Given the description of an element on the screen output the (x, y) to click on. 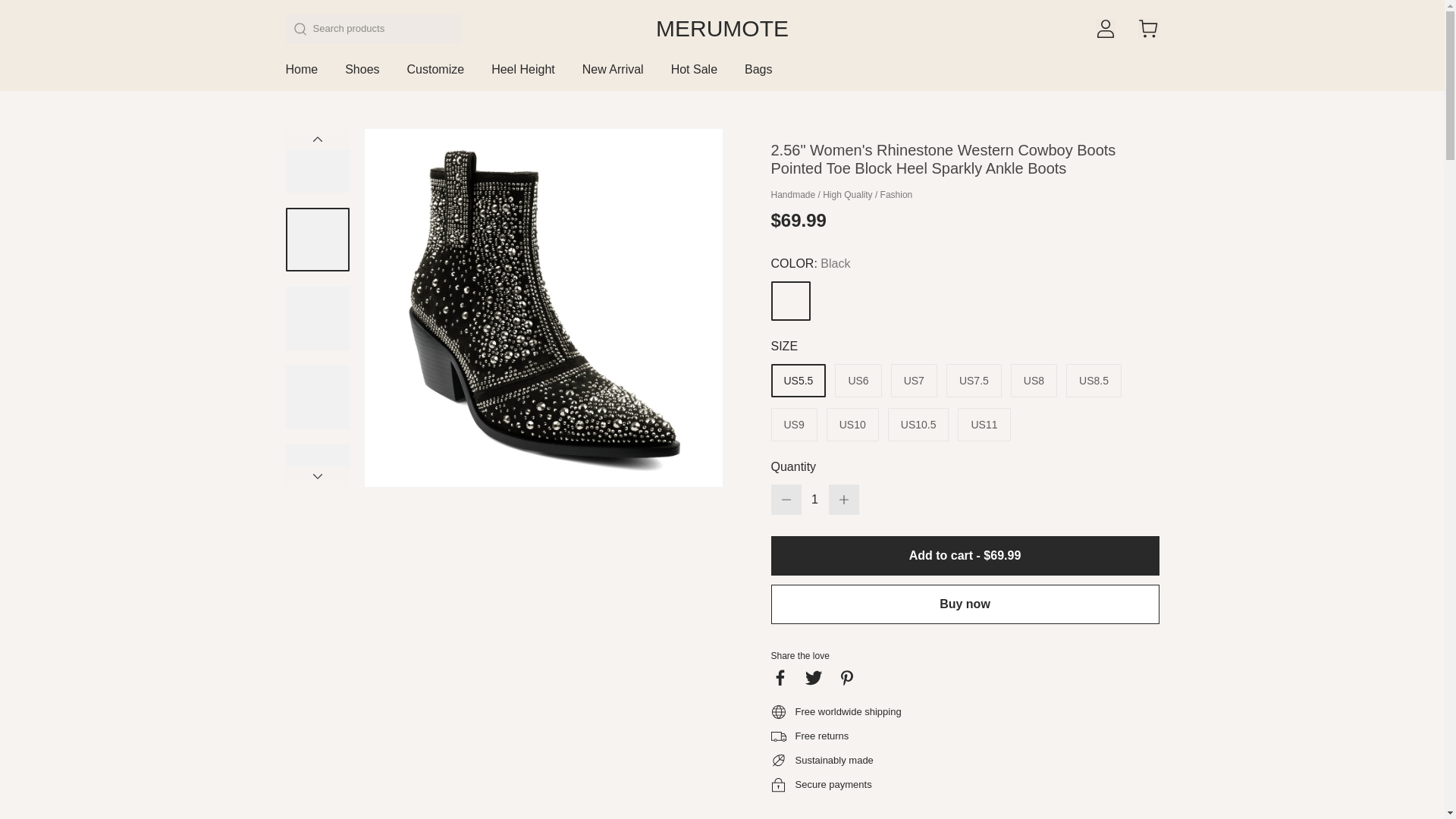
MERUMOTE (722, 28)
Shoes (361, 76)
1 (814, 499)
Home (301, 76)
